Given the description of an element on the screen output the (x, y) to click on. 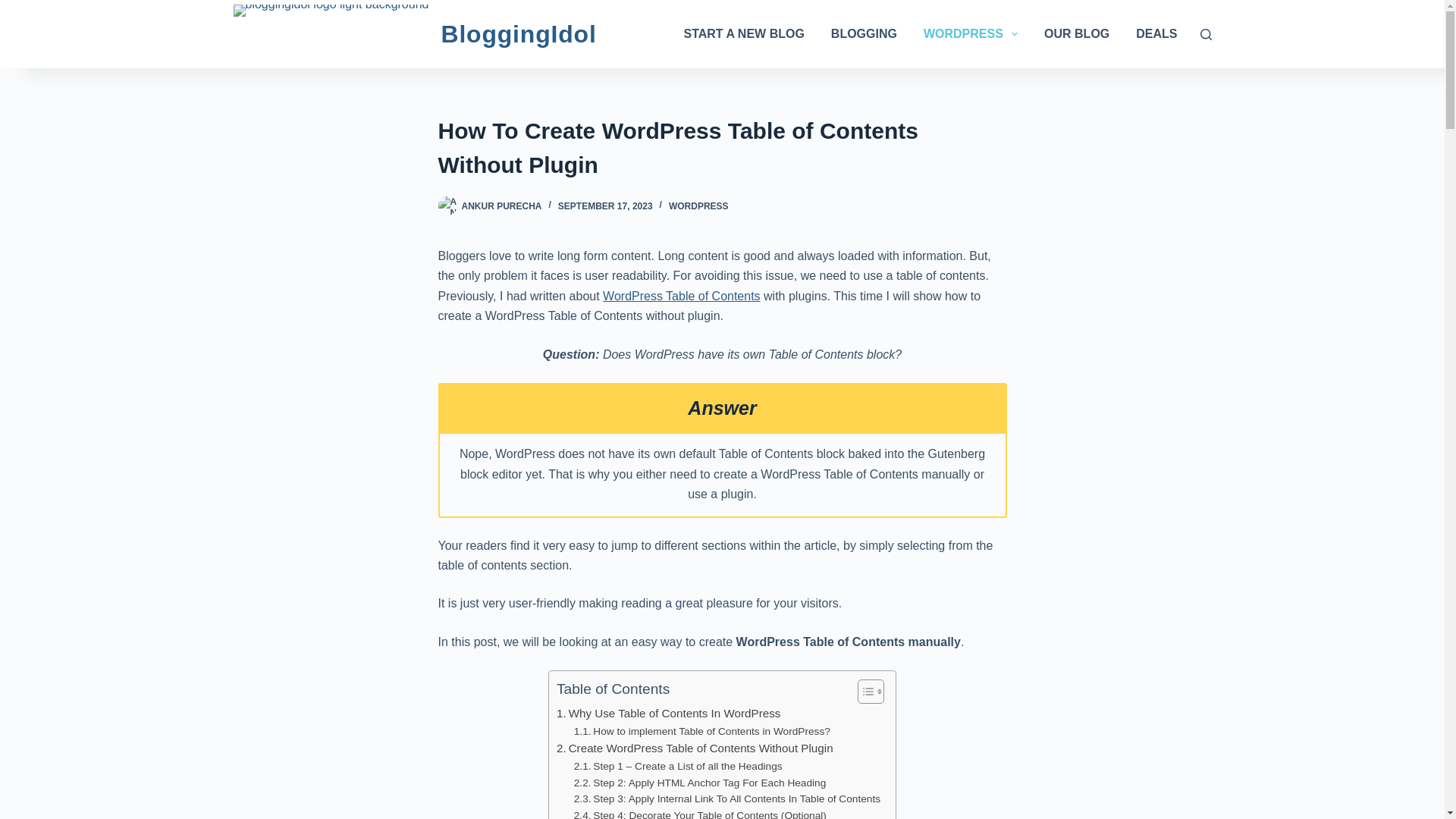
Create WordPress Table of Contents Without Plugin (694, 748)
WORDPRESS (698, 205)
START A NEW BLOG (742, 33)
WORDPRESS (970, 33)
Create WordPress Table of Contents Without Plugin (694, 748)
Why Use Table of Contents In WordPress (668, 713)
ANKUR PURECHA (501, 205)
Why Use Table of Contents In WordPress (668, 713)
BLOGGING (864, 33)
